Given the description of an element on the screen output the (x, y) to click on. 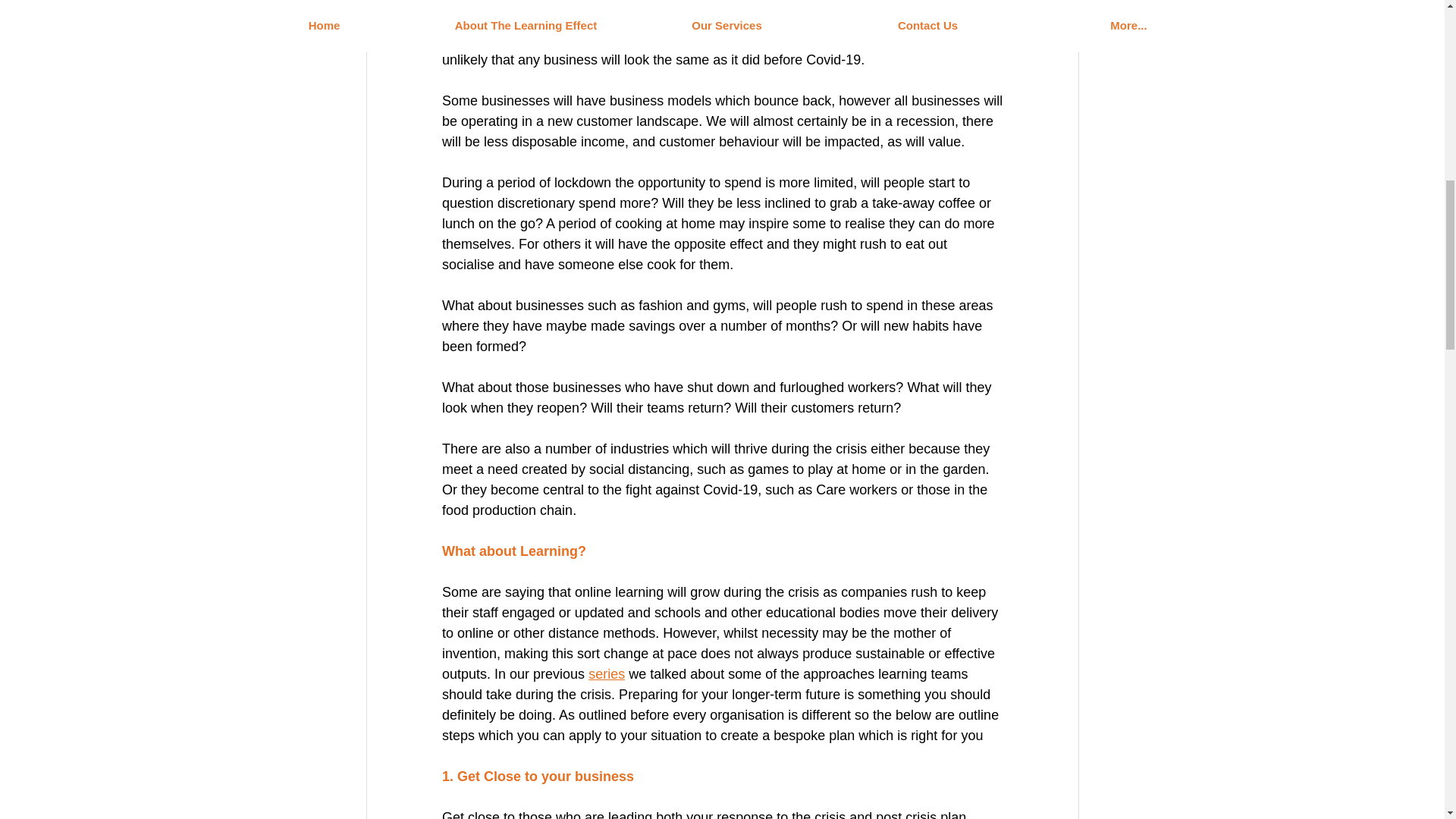
series (606, 673)
